Given the description of an element on the screen output the (x, y) to click on. 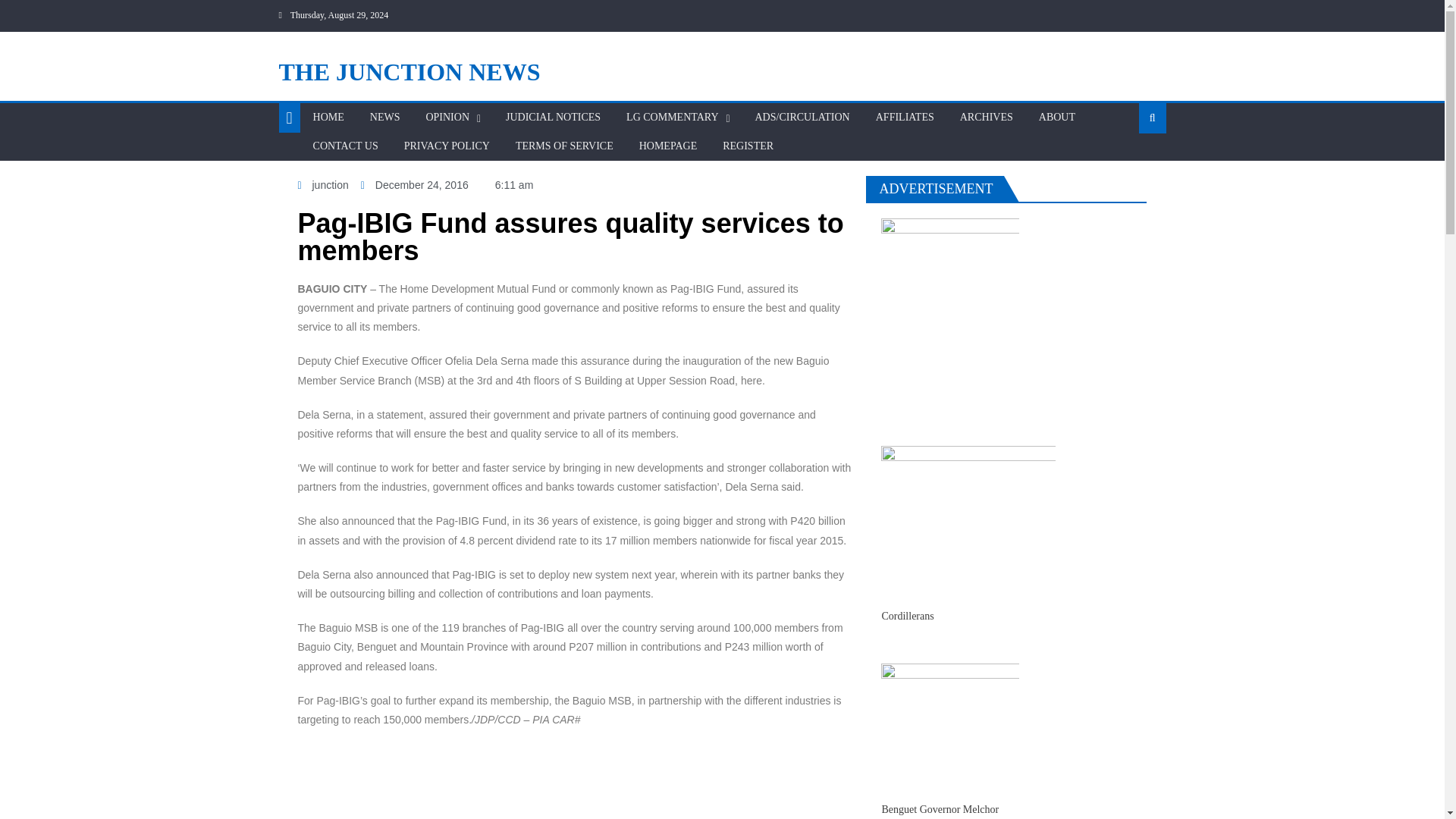
CONTACT US (345, 145)
JUDICIAL NOTICES (553, 117)
ARCHIVES (987, 117)
HOMEPAGE (668, 145)
ABOUT (1056, 117)
THE JUNCTION NEWS (409, 71)
LG COMMENTARY (671, 117)
AFFILIATES (904, 117)
OPINION (446, 117)
REGISTER (747, 145)
